Given the description of an element on the screen output the (x, y) to click on. 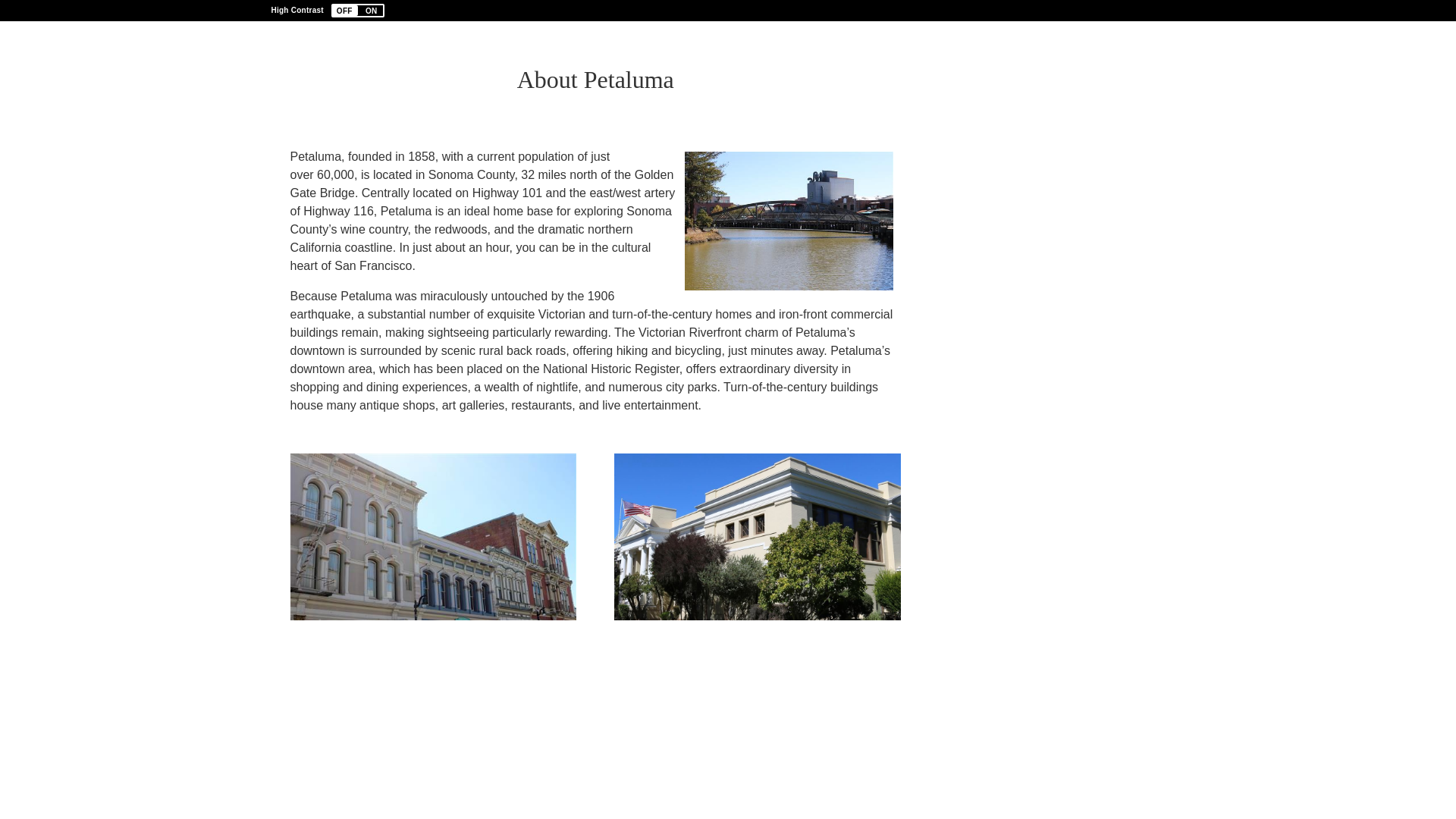
Photo of Petaluma River (788, 220)
Old District Office (757, 536)
Photo of Downtown Petaluma Buildings (432, 536)
